Given the description of an element on the screen output the (x, y) to click on. 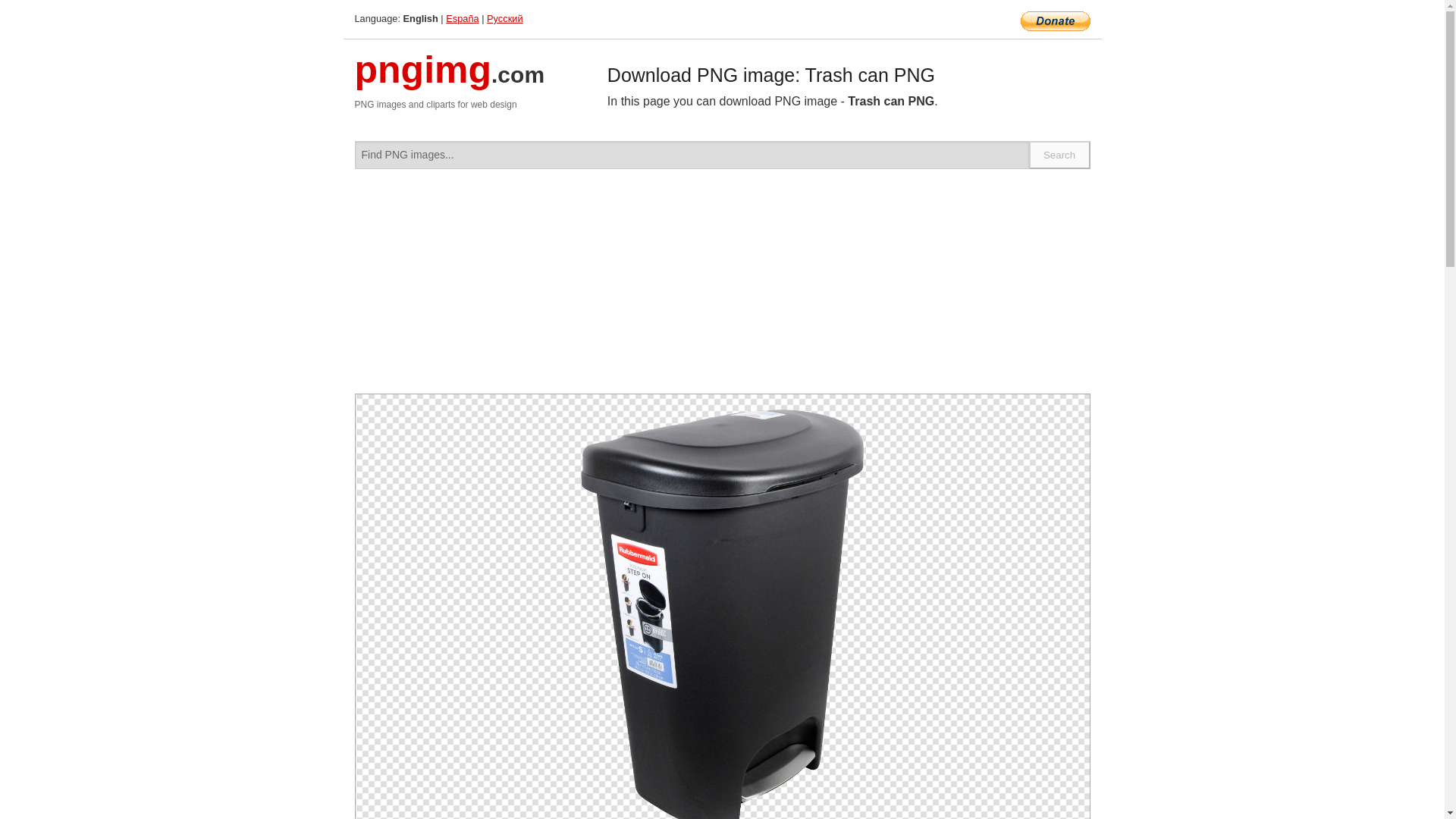
Search (1059, 154)
pngimg.com (449, 78)
Search (1059, 154)
